Given the description of an element on the screen output the (x, y) to click on. 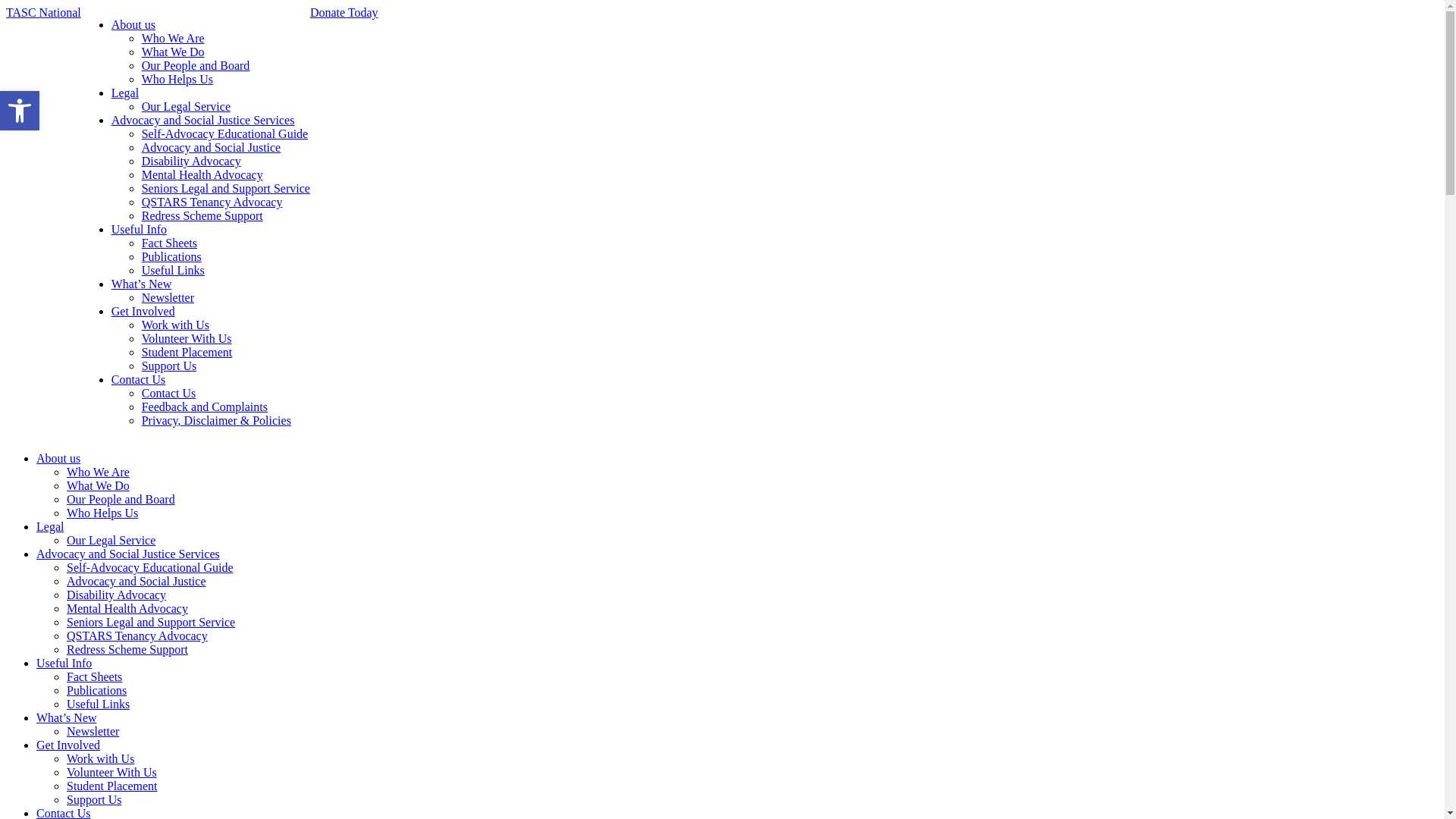
Useful Info Element type: text (63, 662)
Contact Us Element type: text (138, 379)
Student Placement Element type: text (111, 785)
Who We Are Element type: text (97, 471)
Publications Element type: text (171, 256)
Fact Sheets Element type: text (169, 242)
Donate Today Element type: text (344, 222)
Who Helps Us Element type: text (102, 512)
Work with Us Element type: text (175, 324)
What We Do Element type: text (172, 51)
Advocacy and Social Justice Element type: text (136, 580)
Contact Us Element type: text (168, 392)
Student Placement Element type: text (186, 351)
Redress Scheme Support Element type: text (202, 215)
Self-Advocacy Educational Guide Element type: text (224, 133)
Mental Health Advocacy Element type: text (202, 174)
Newsletter Element type: text (92, 730)
Who We Are Element type: text (172, 37)
Mental Health Advocacy Element type: text (127, 608)
Volunteer With Us Element type: text (186, 338)
Get Involved Element type: text (143, 310)
Skip to content Element type: text (5, 451)
Fact Sheets Element type: text (94, 676)
Our Legal Service Element type: text (185, 106)
Newsletter Element type: text (167, 297)
Self-Advocacy Educational Guide Element type: text (149, 567)
Disability Advocacy Element type: text (191, 160)
Privacy, Disclaimer & Policies Element type: text (216, 420)
Redress Scheme Support Element type: text (127, 649)
Useful Links Element type: text (97, 703)
Volunteer With Us Element type: text (111, 771)
Our People and Board Element type: text (195, 65)
Our Legal Service Element type: text (110, 539)
Who Helps Us Element type: text (177, 78)
What We Do Element type: text (97, 485)
Legal Element type: text (49, 526)
About us Element type: text (58, 457)
Useful Info Element type: text (138, 228)
Support Us Element type: text (93, 799)
QSTARS Tenancy Advocacy Element type: text (136, 635)
Work with Us Element type: text (100, 758)
Publications Element type: text (96, 690)
Disability Advocacy Element type: text (116, 594)
Seniors Legal and Support Service Element type: text (150, 621)
Get Involved Element type: text (68, 744)
About us Element type: text (133, 24)
Advocacy and Social Justice Services Element type: text (127, 553)
QSTARS Tenancy Advocacy Element type: text (211, 201)
Open toolbar
Accessibility Tools Element type: text (19, 110)
Advocacy and Social Justice Services Element type: text (202, 119)
Our People and Board Element type: text (120, 498)
Advocacy and Social Justice Element type: text (211, 147)
Support Us Element type: text (168, 365)
TASC National Element type: text (43, 12)
Legal Element type: text (124, 92)
Useful Links Element type: text (172, 269)
Feedback and Complaints Element type: text (204, 406)
Seniors Legal and Support Service Element type: text (225, 188)
